Given the description of an element on the screen output the (x, y) to click on. 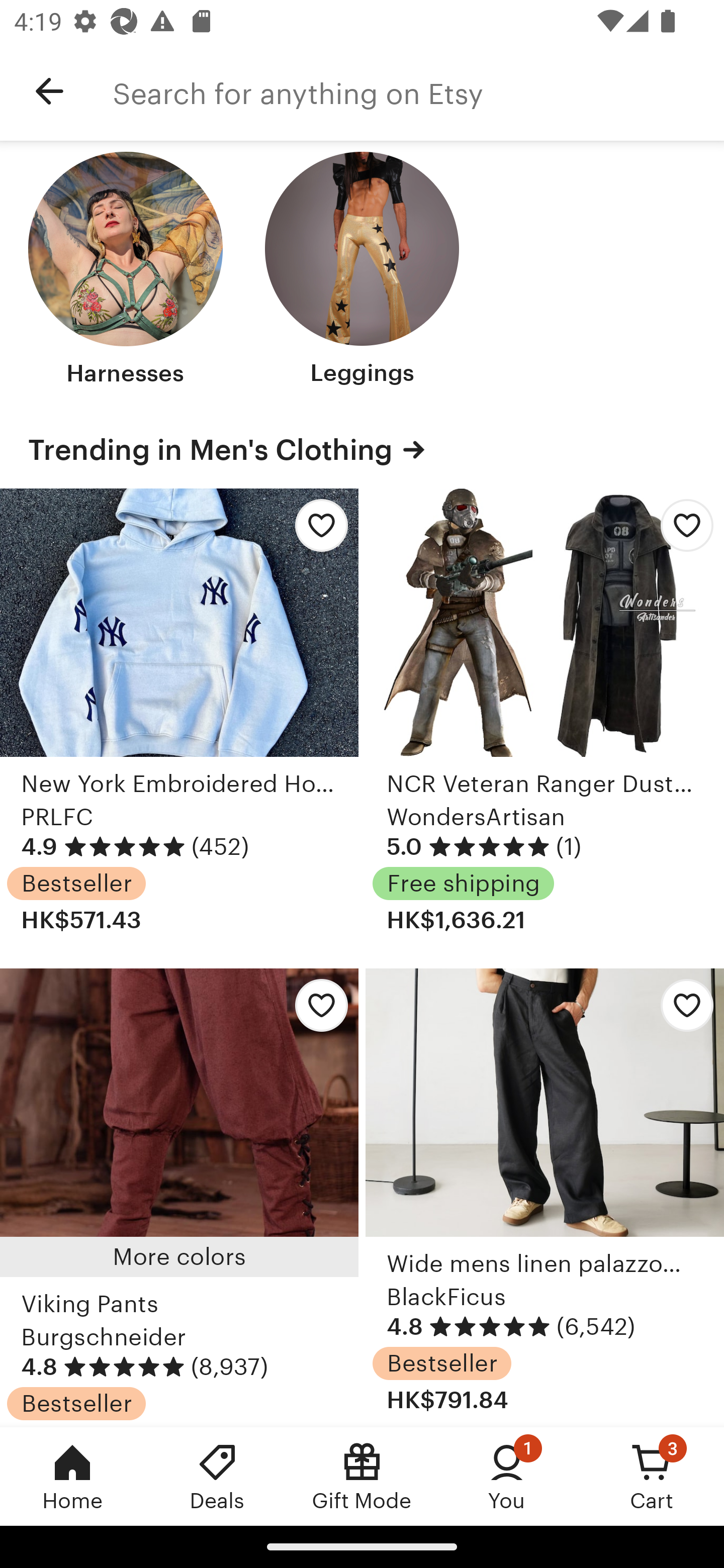
Navigate up (49, 91)
Search for anything on Etsy (418, 91)
Harnesses (125, 271)
Leggings (361, 271)
Trending in Men's Clothing  (361, 449)
Add Viking Pants to favorites (315, 1010)
Deals (216, 1475)
Gift Mode (361, 1475)
You, 1 new notification You (506, 1475)
Cart, 3 new notifications Cart (651, 1475)
